Given the description of an element on the screen output the (x, y) to click on. 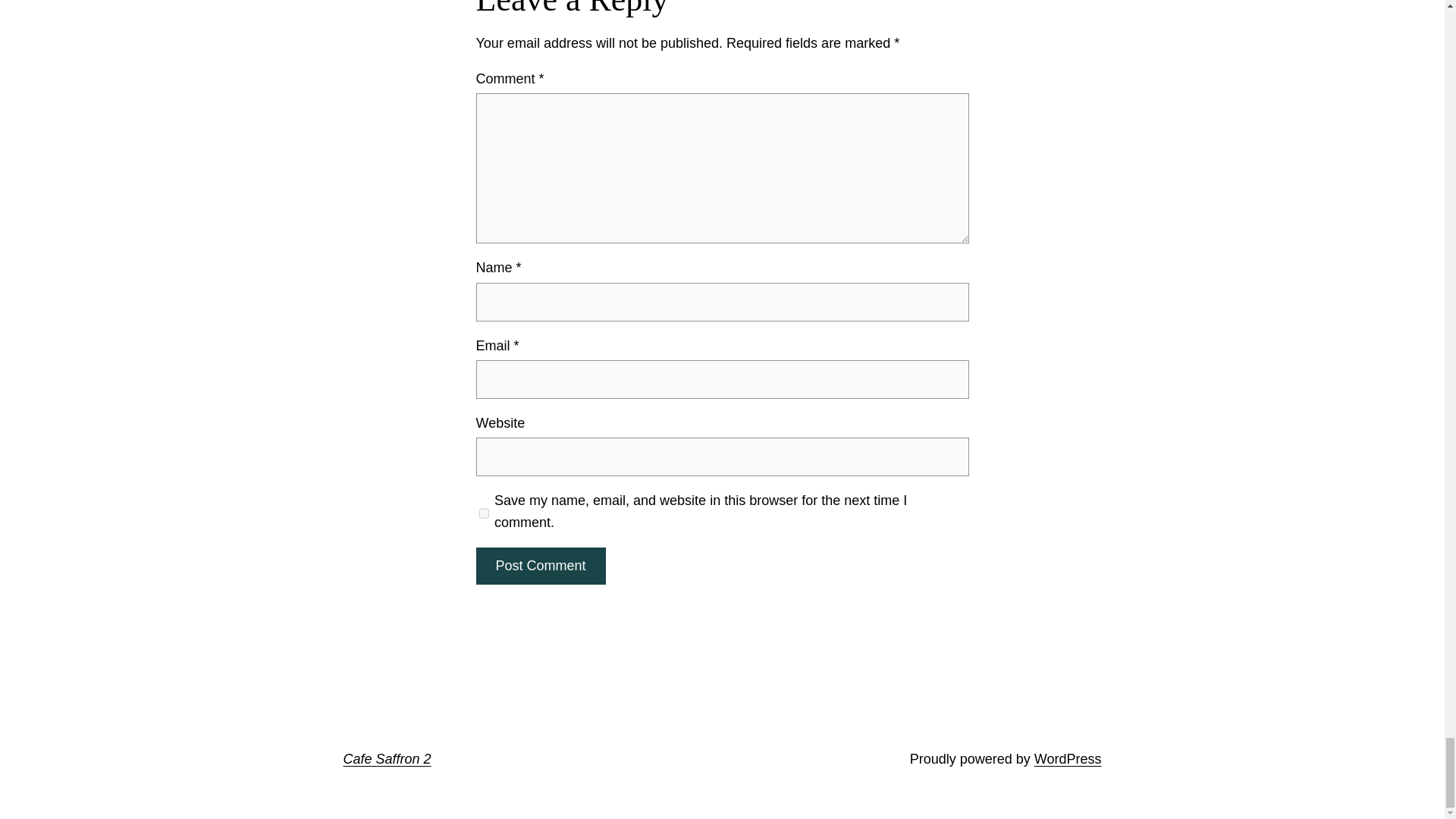
Post Comment (540, 565)
Cafe Saffron 2 (386, 758)
WordPress (1067, 758)
Post Comment (540, 565)
